Given the description of an element on the screen output the (x, y) to click on. 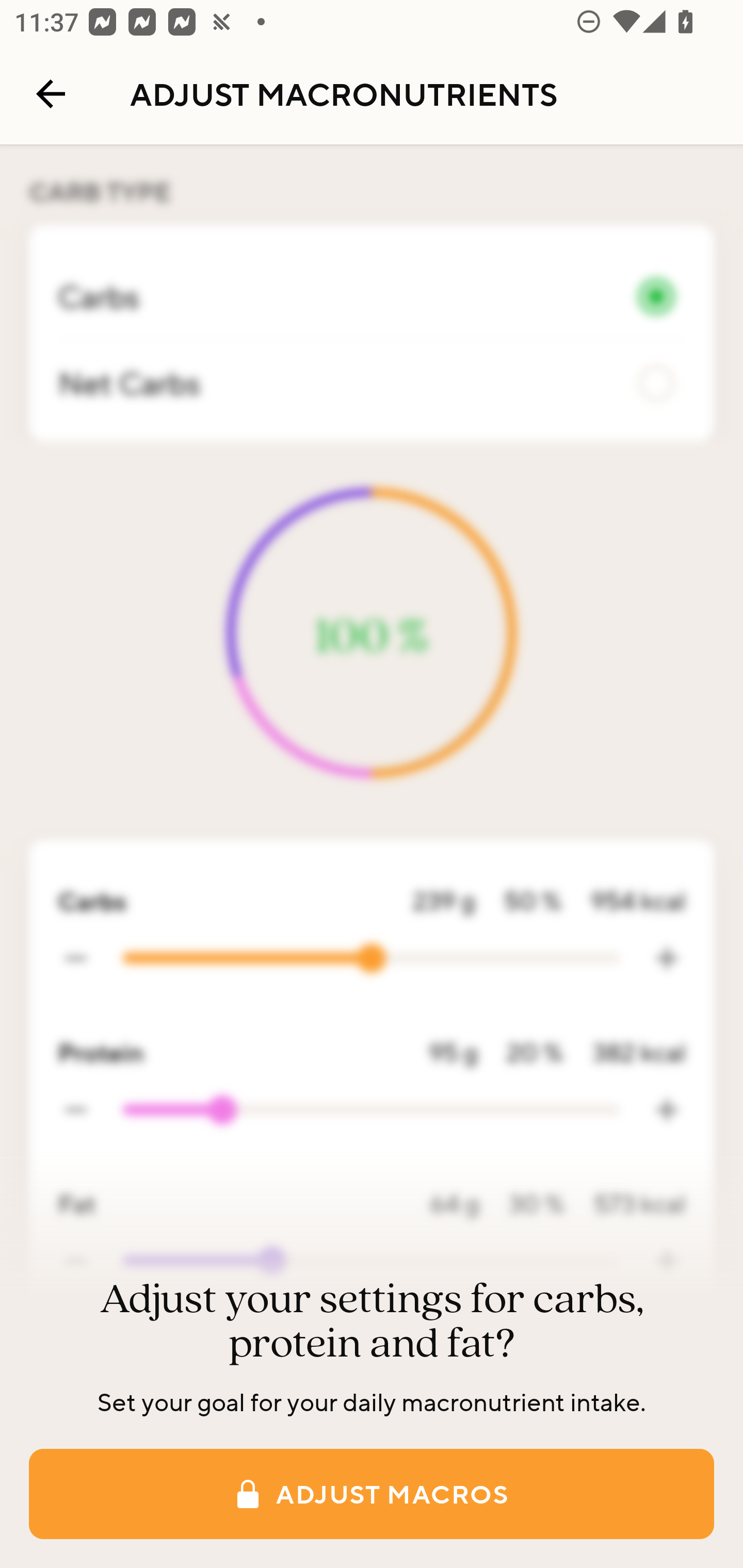
Navigate up (50, 93)
ADJUST MACROS (371, 1493)
